Given the description of an element on the screen output the (x, y) to click on. 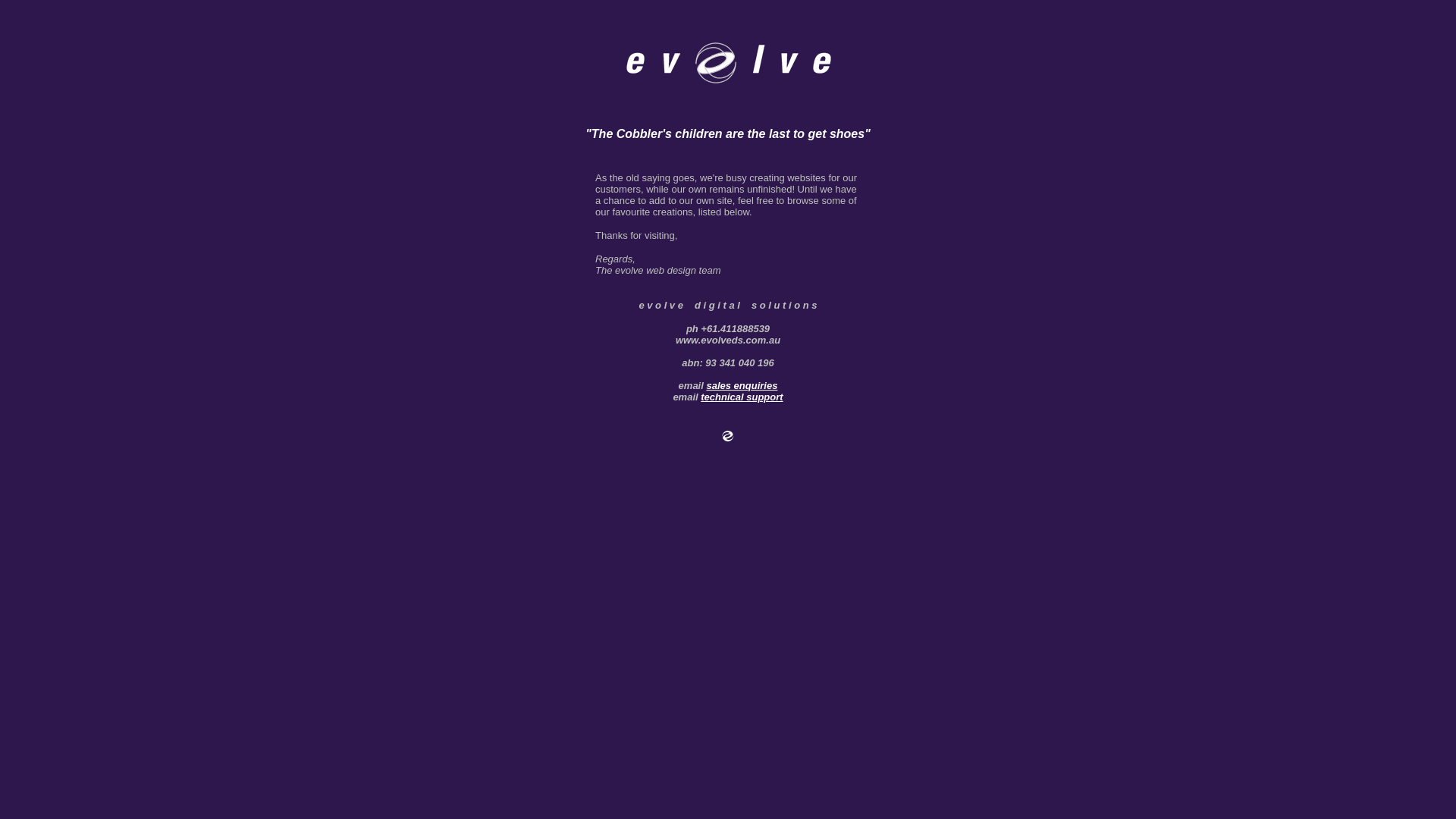
sales enquiries Element type: text (741, 385)
technical support Element type: text (741, 396)
